Given the description of an element on the screen output the (x, y) to click on. 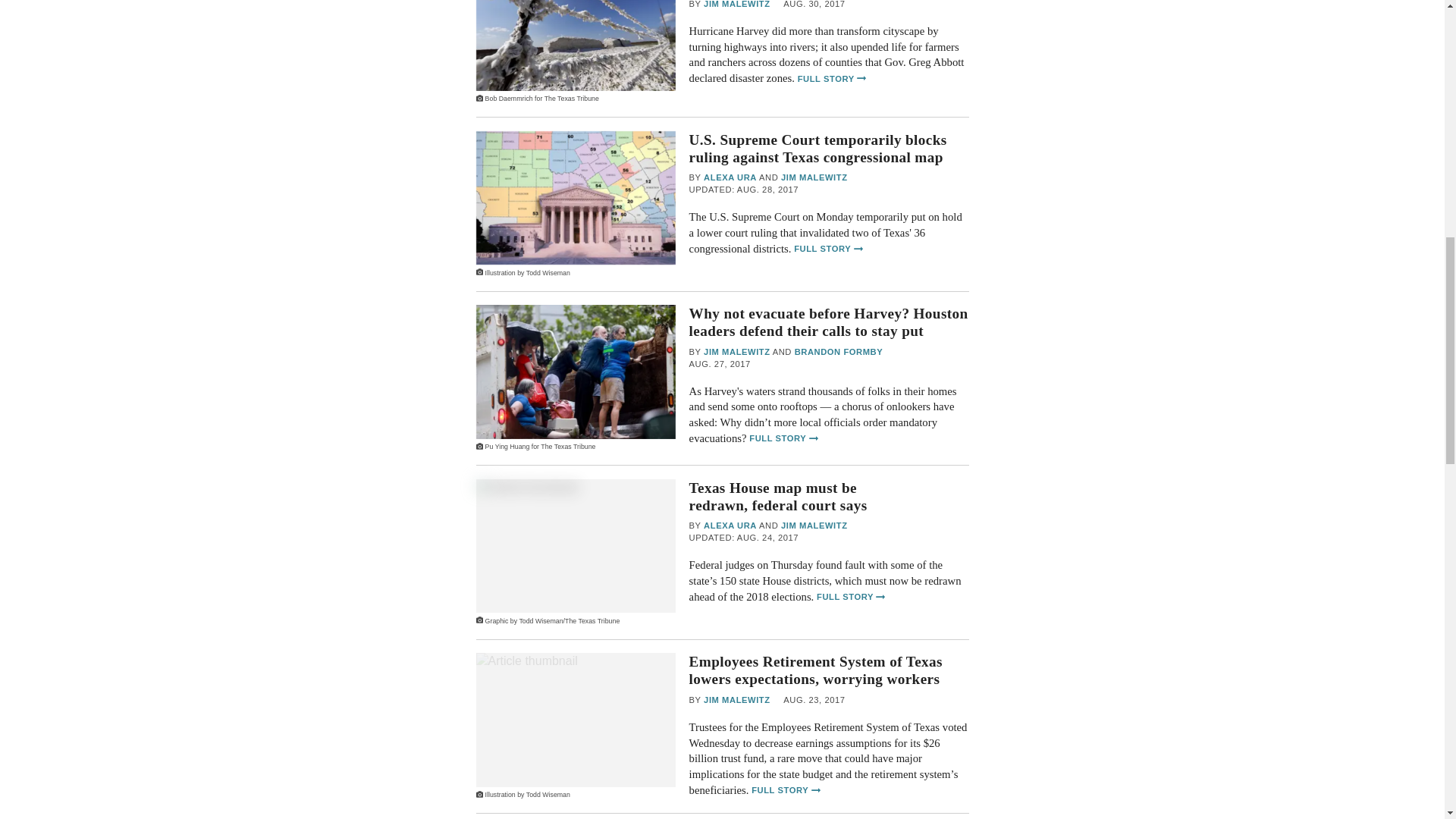
2017-08-30 16:39 CDT (813, 5)
2017-08-23 19:34 CDT (813, 700)
2017-08-27 18:08 CDT (719, 364)
2017-08-28 16:05 CDT (743, 190)
2017-08-24 18:27 CDT (743, 538)
